Given the description of an element on the screen output the (x, y) to click on. 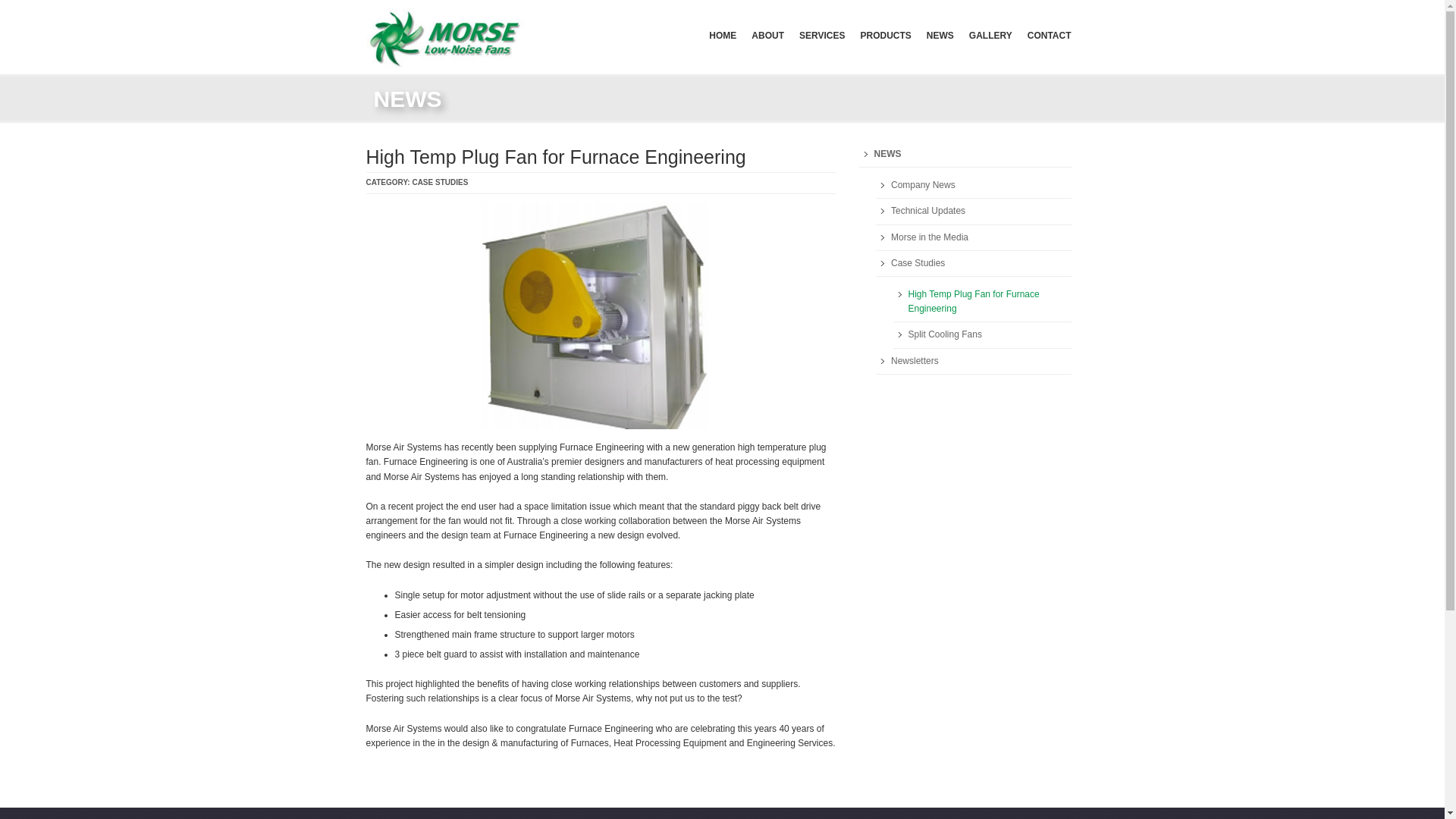
PRODUCTS Element type: text (885, 34)
Newsletters Element type: text (973, 361)
Case Studies Element type: text (973, 263)
CONTACT Element type: text (1049, 34)
High Temp Plug Fan for Furnace Engineering Element type: text (982, 302)
SERVICES Element type: text (821, 34)
Morse in the Media Element type: text (973, 238)
Technical Updates Element type: text (973, 211)
ABOUT Element type: text (767, 34)
GALLERY Element type: text (990, 34)
NEWS Element type: text (964, 154)
NEWS Element type: text (940, 34)
Company News Element type: text (973, 185)
Split Cooling Fans Element type: text (982, 335)
HOME Element type: text (722, 34)
